Given the description of an element on the screen output the (x, y) to click on. 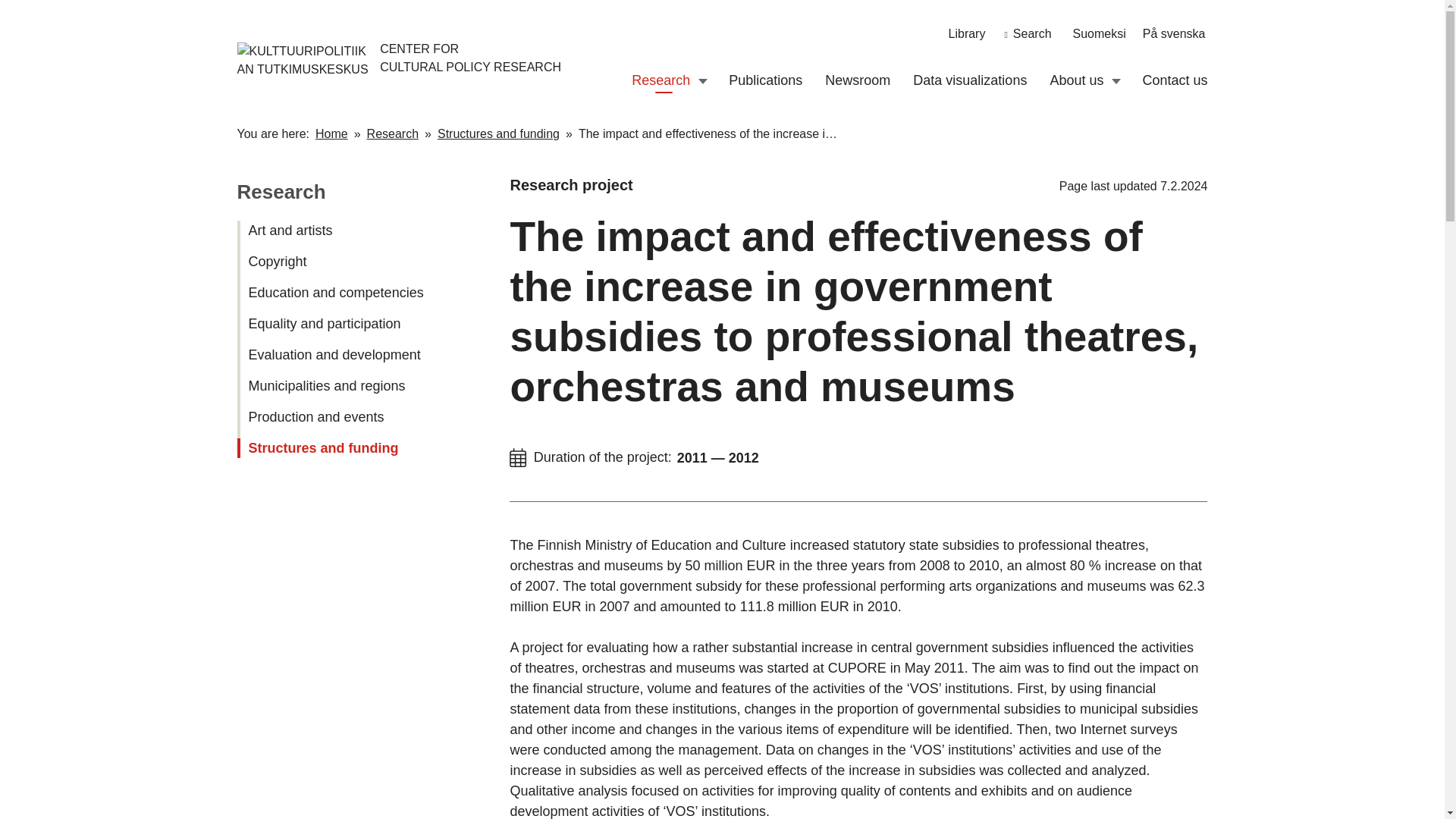
Suomeksi (1099, 33)
Home (331, 133)
Research (279, 191)
Evaluation and development (340, 355)
Research (392, 133)
Data visualizations (969, 80)
CENTER FOR CULTURAL POLICY RESEARCH (308, 58)
Copyright (340, 261)
Search (1027, 33)
Research (660, 80)
